Given the description of an element on the screen output the (x, y) to click on. 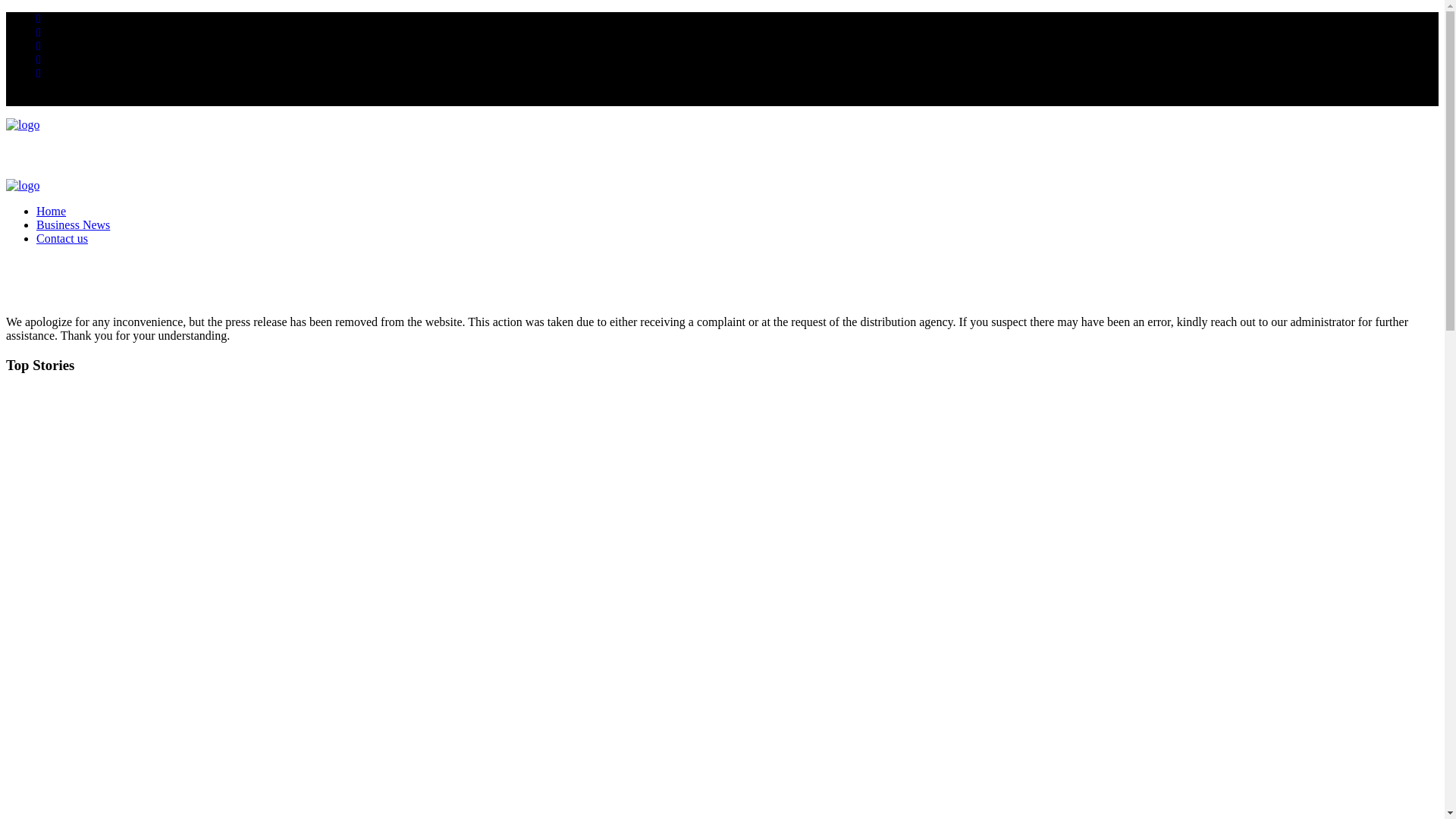
Business News (73, 224)
Contact us (61, 237)
Home (50, 210)
